Given the description of an element on the screen output the (x, y) to click on. 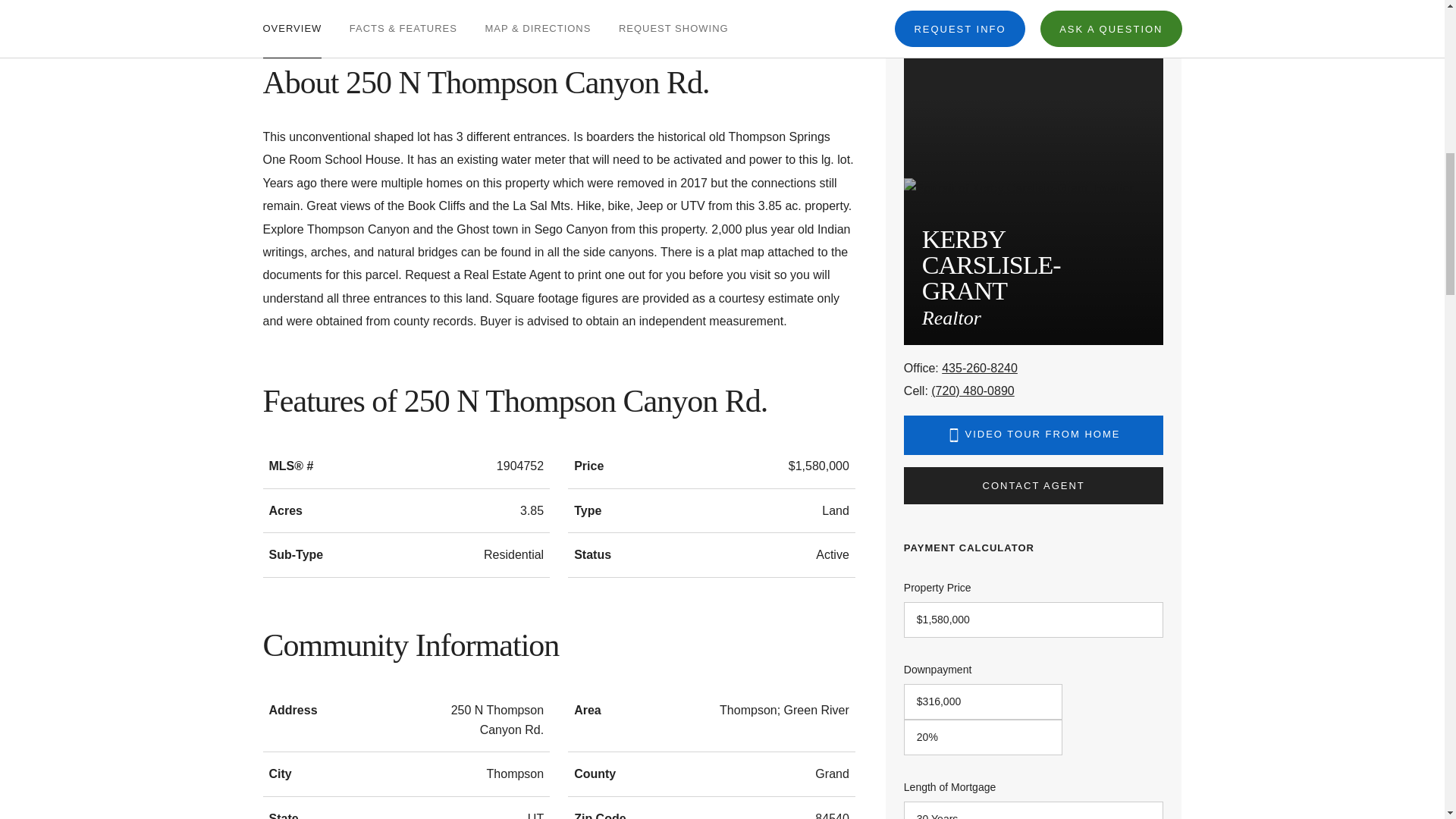
30 Years (1033, 810)
MOBILE ICON (953, 435)
